Given the description of an element on the screen output the (x, y) to click on. 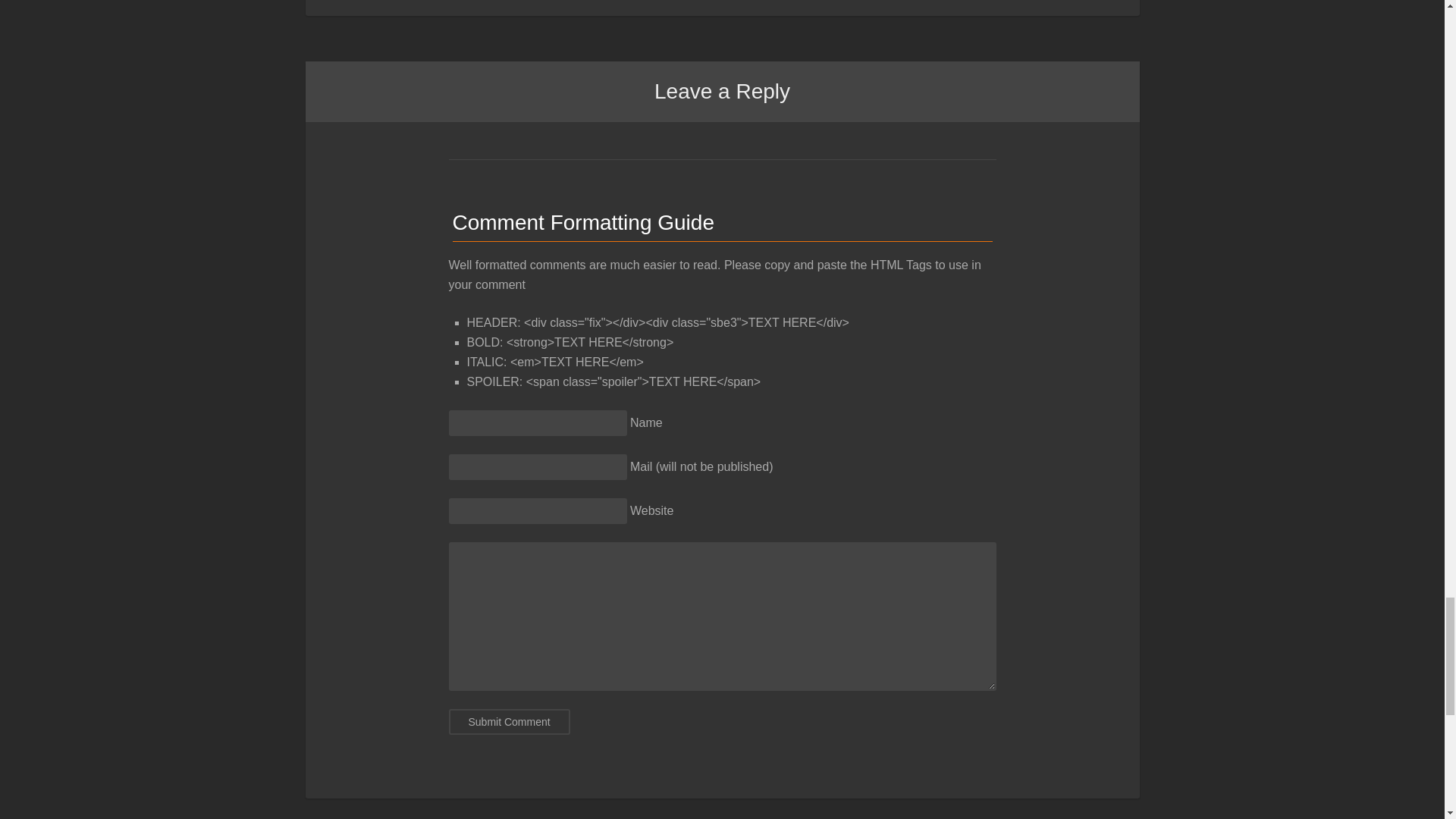
Submit Comment (509, 721)
